Given the description of an element on the screen output the (x, y) to click on. 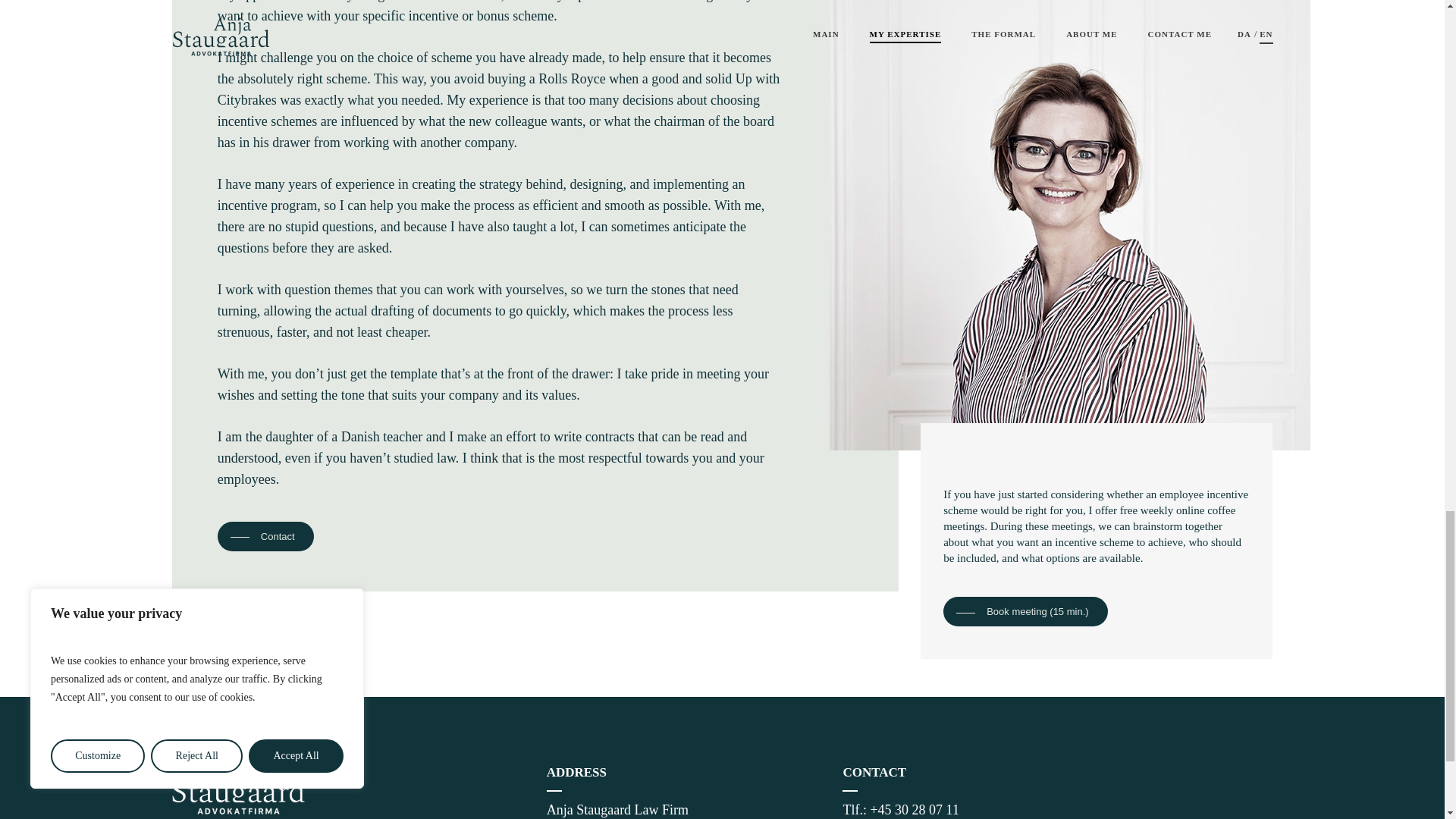
Contact (266, 536)
